Given the description of an element on the screen output the (x, y) to click on. 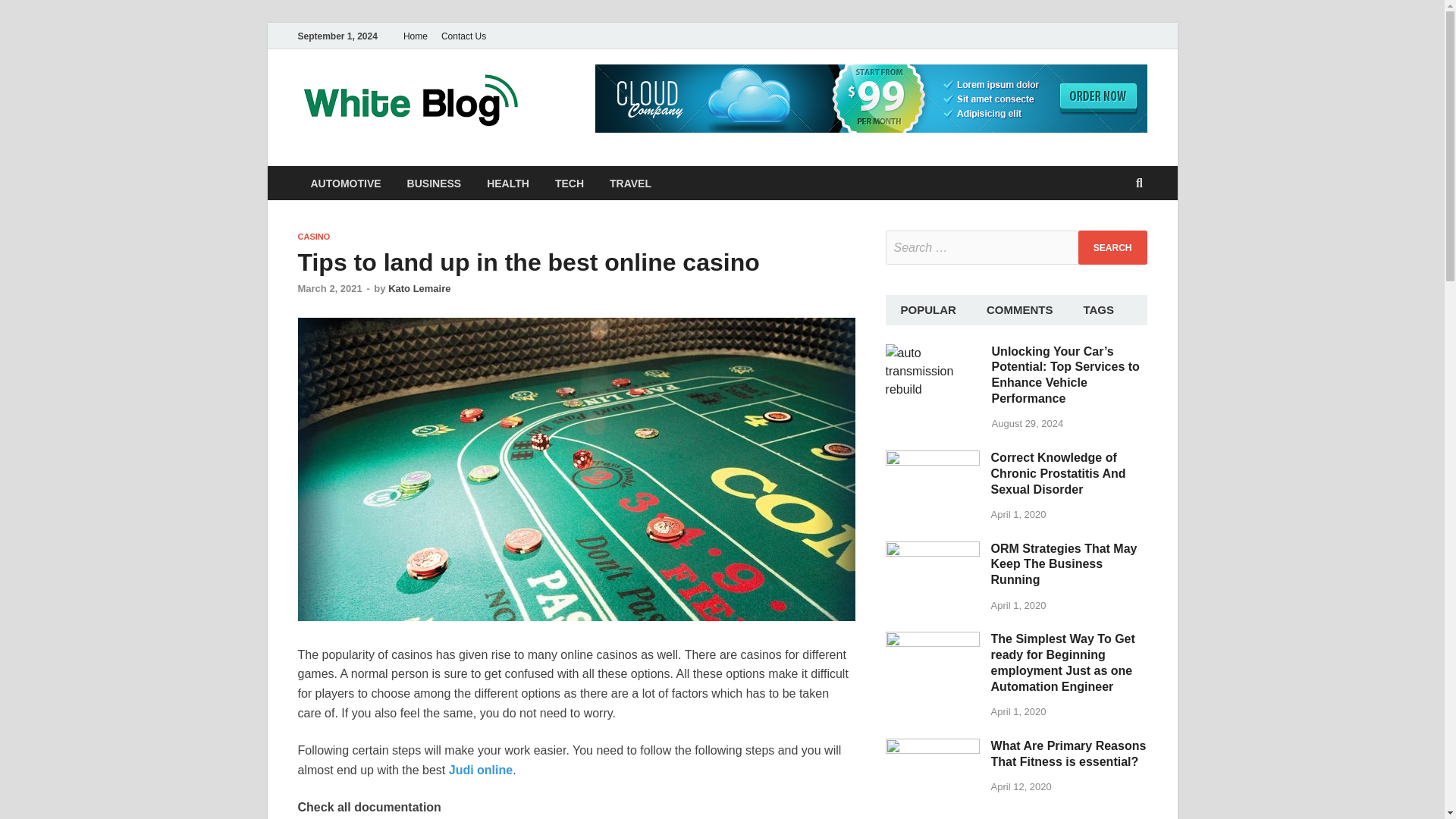
TAGS (1098, 309)
CASINO (313, 235)
TRAVEL (629, 182)
What Are Primary Reasons That Fitness is essential? (932, 747)
ORM Strategies That May Keep The Business Running (1064, 564)
Contact Us (463, 35)
HEALTH (507, 182)
Search (1112, 247)
Home (414, 35)
Correct Knowledge of Chronic Prostatitis And Sexual Disorder (932, 459)
